Given the description of an element on the screen output the (x, y) to click on. 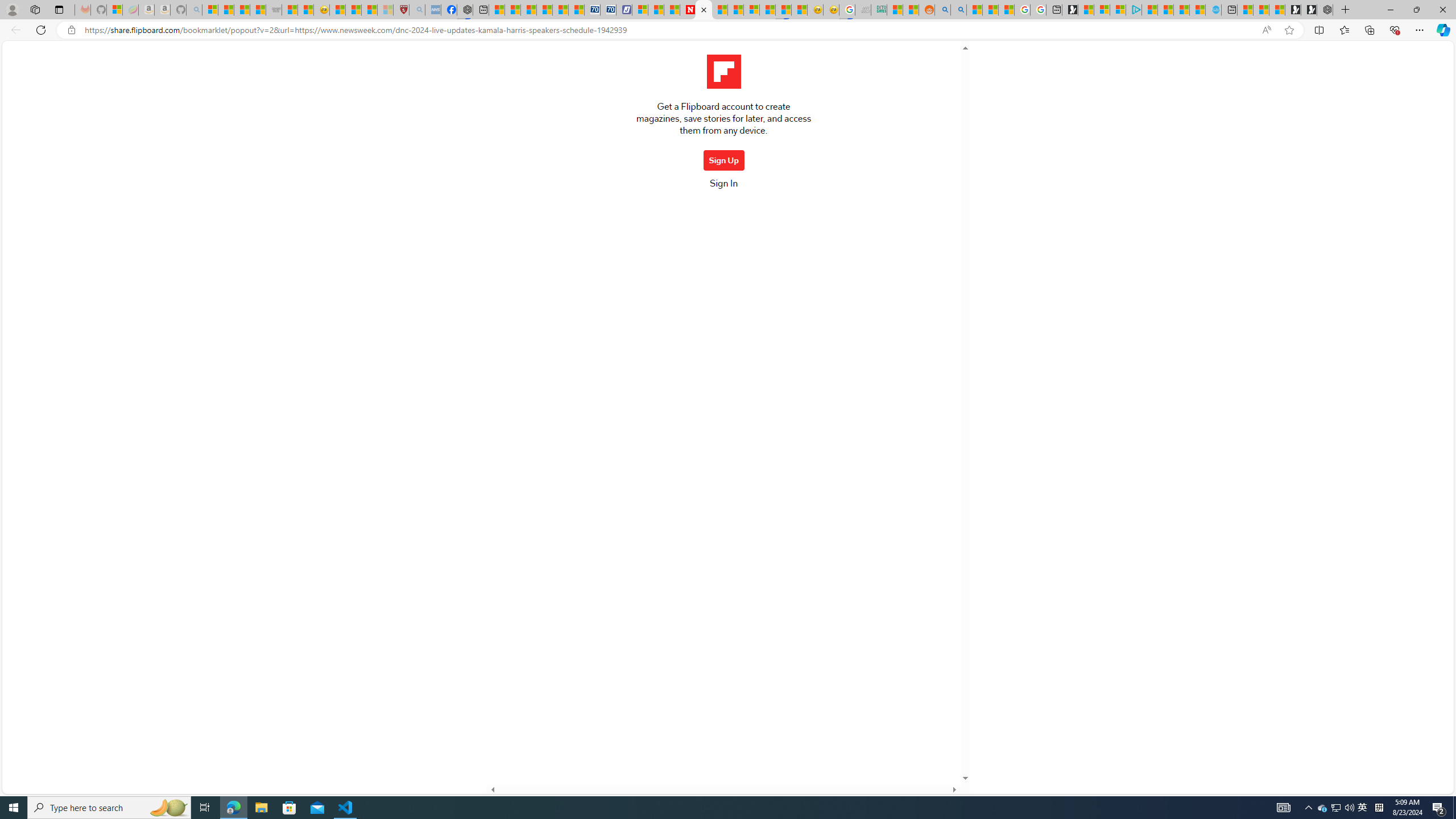
MSN (783, 9)
Microsoft account | Privacy (1118, 9)
Robert H. Shmerling, MD - Harvard Health (400, 9)
Combat Siege (273, 9)
list of asthma inhalers uk - Search - Sleeping (416, 9)
Nordace - Nordace Siena Is Not An Ordinary Backpack (1324, 9)
DITOGAMES AG Imprint (878, 9)
Sign Up (723, 159)
